Given the description of an element on the screen output the (x, y) to click on. 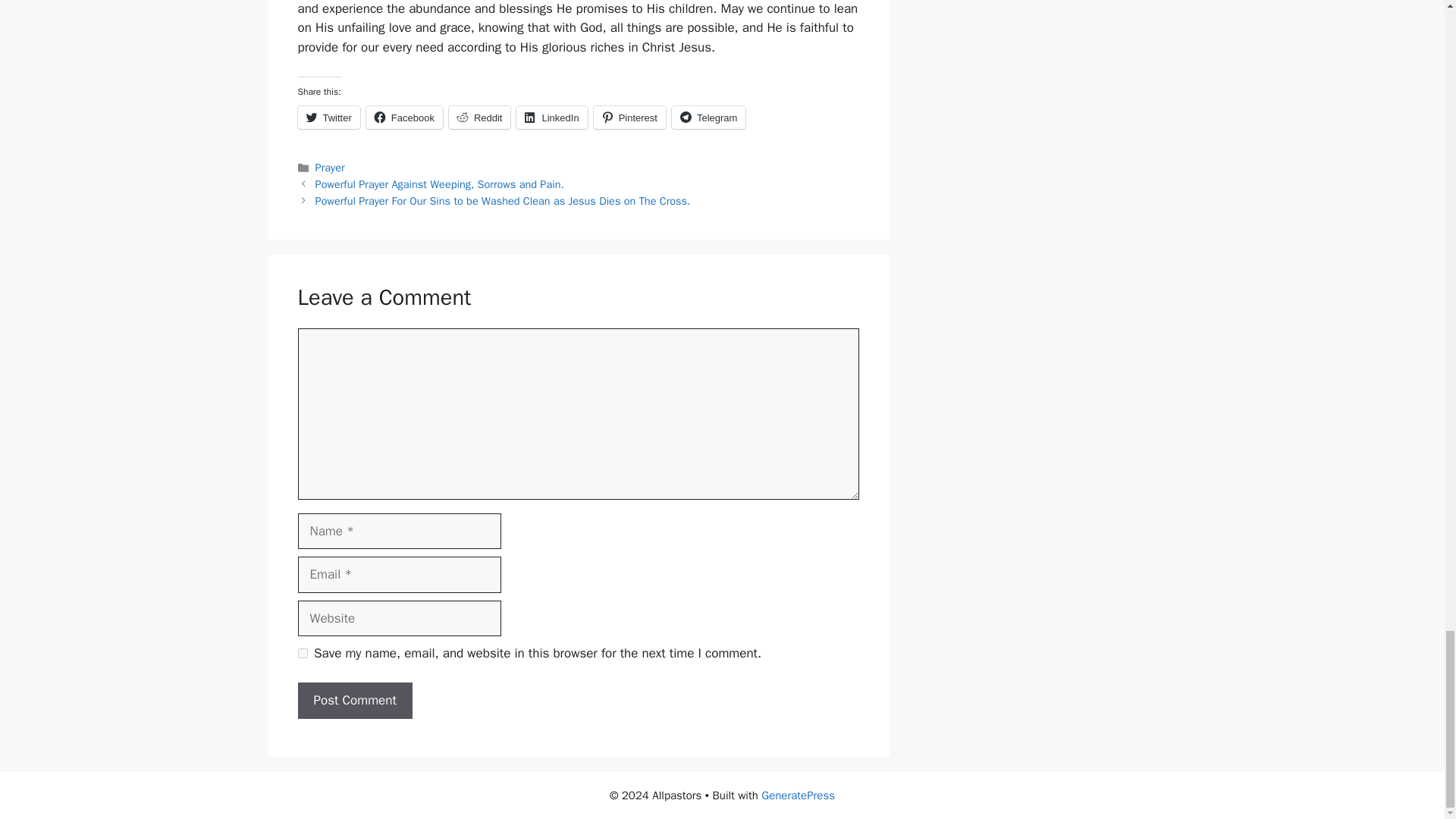
Post Comment (354, 700)
Post Comment (354, 700)
Powerful Prayer Against Weeping, Sorrows and Pain. (439, 183)
Twitter (328, 117)
Click to share on Facebook (404, 117)
Click to share on Twitter (328, 117)
Click to share on LinkedIn (551, 117)
Click to share on Reddit (479, 117)
Click to share on Telegram (708, 117)
